Given the description of an element on the screen output the (x, y) to click on. 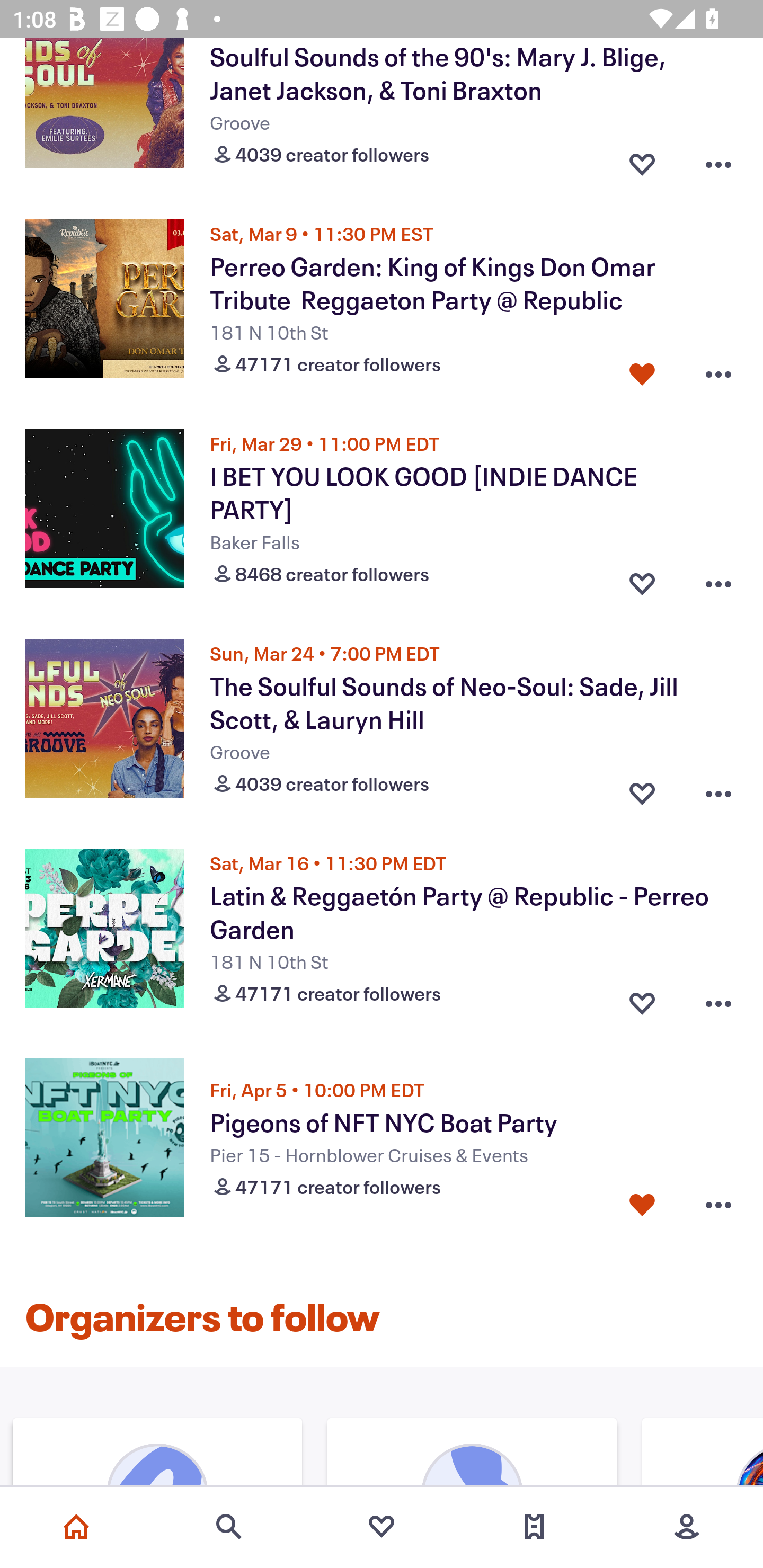
Favorite button (642, 160)
Overflow menu button (718, 160)
Favorite button (642, 369)
Overflow menu button (718, 369)
Favorite button (642, 579)
Overflow menu button (718, 579)
Favorite button (642, 789)
Overflow menu button (718, 789)
Favorite button (642, 999)
Overflow menu button (718, 999)
Favorite button (642, 1204)
Overflow menu button (718, 1204)
Home (76, 1526)
Search events (228, 1526)
Favorites (381, 1526)
Tickets (533, 1526)
More (686, 1526)
